Given the description of an element on the screen output the (x, y) to click on. 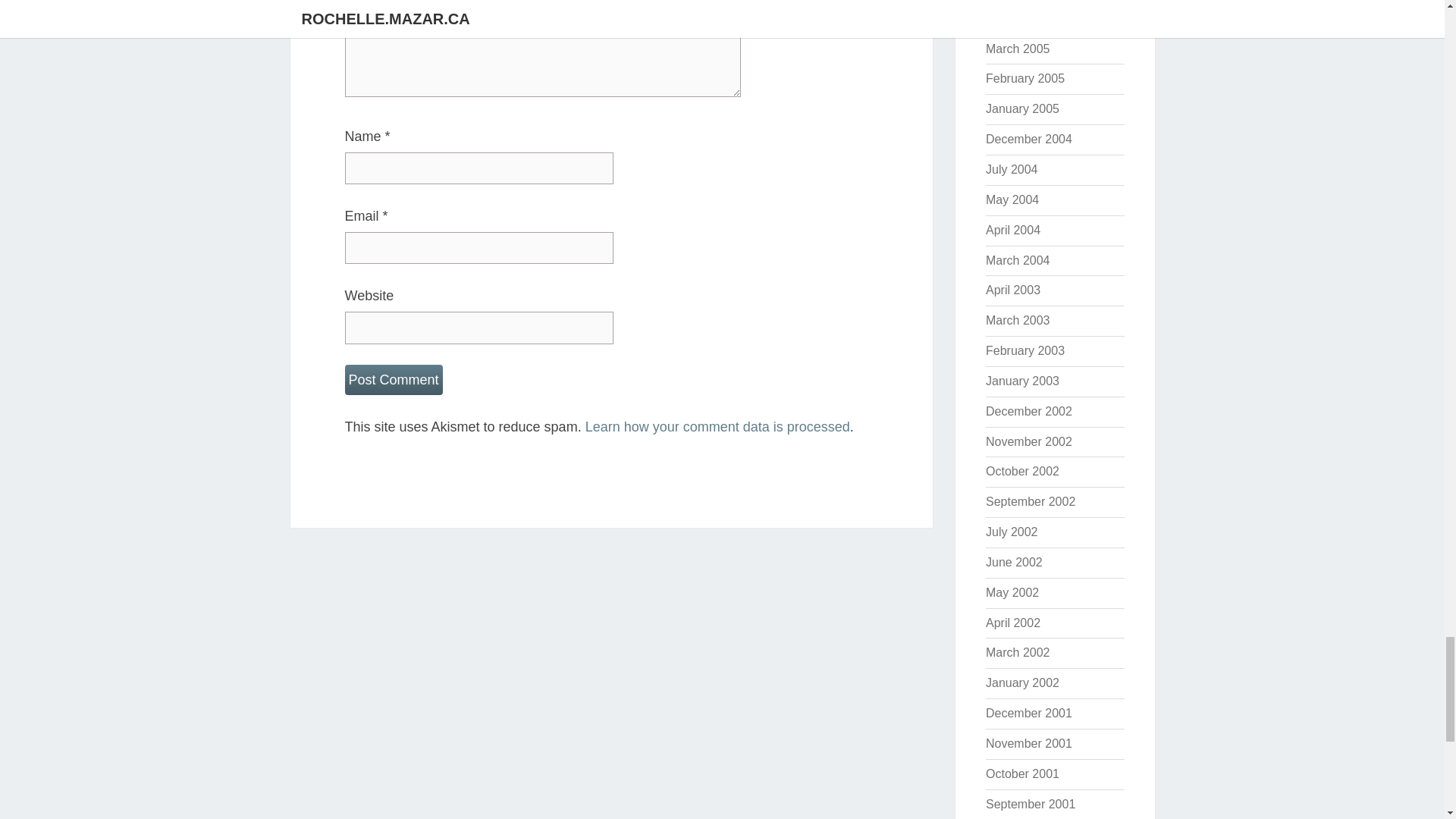
Post Comment (392, 379)
Learn how your comment data is processed (717, 426)
Post Comment (392, 379)
